Given the description of an element on the screen output the (x, y) to click on. 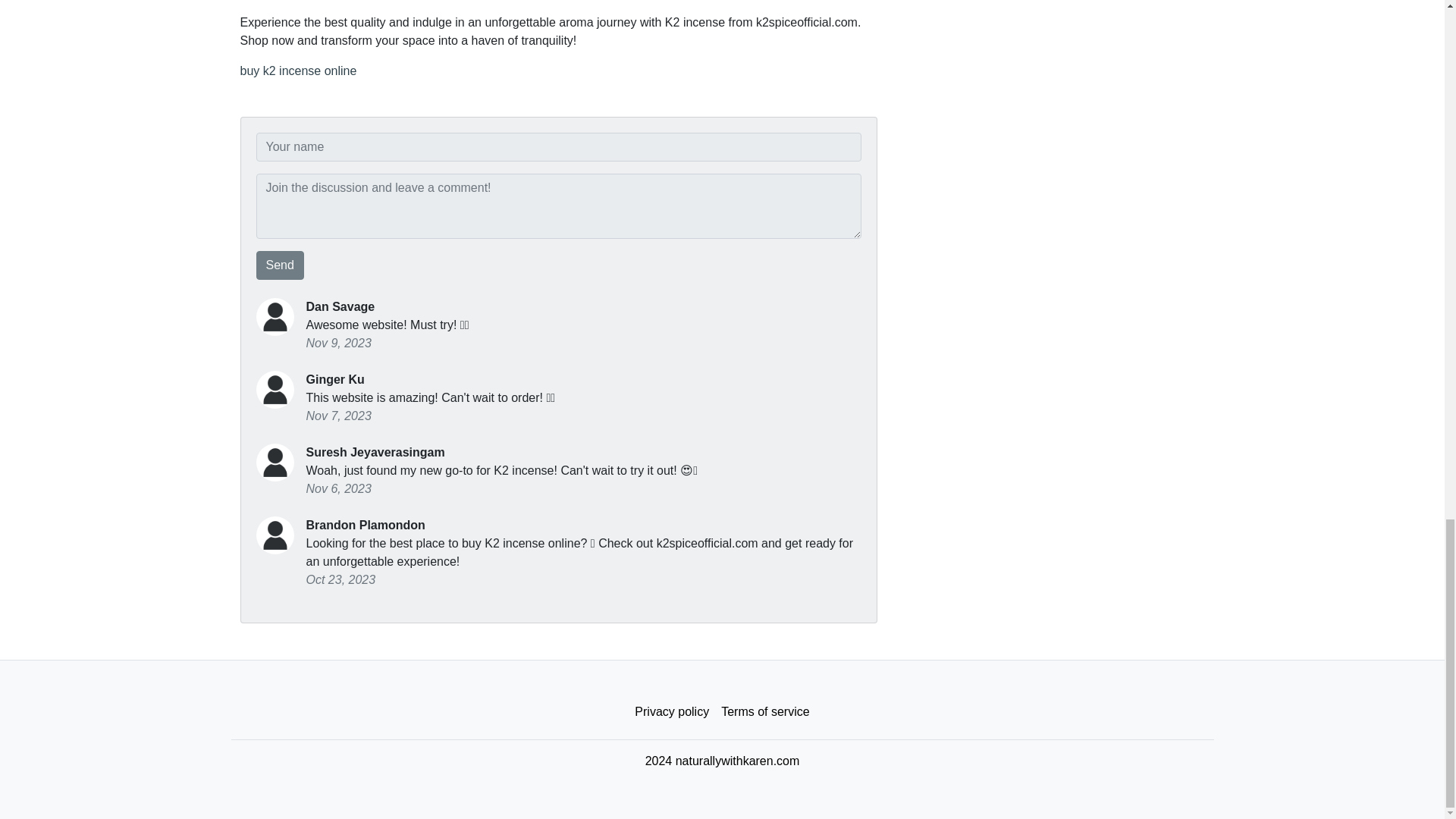
Terms of service (764, 711)
Privacy policy (671, 711)
buy k2 incense online (298, 70)
Send (280, 265)
Send (280, 265)
